Given the description of an element on the screen output the (x, y) to click on. 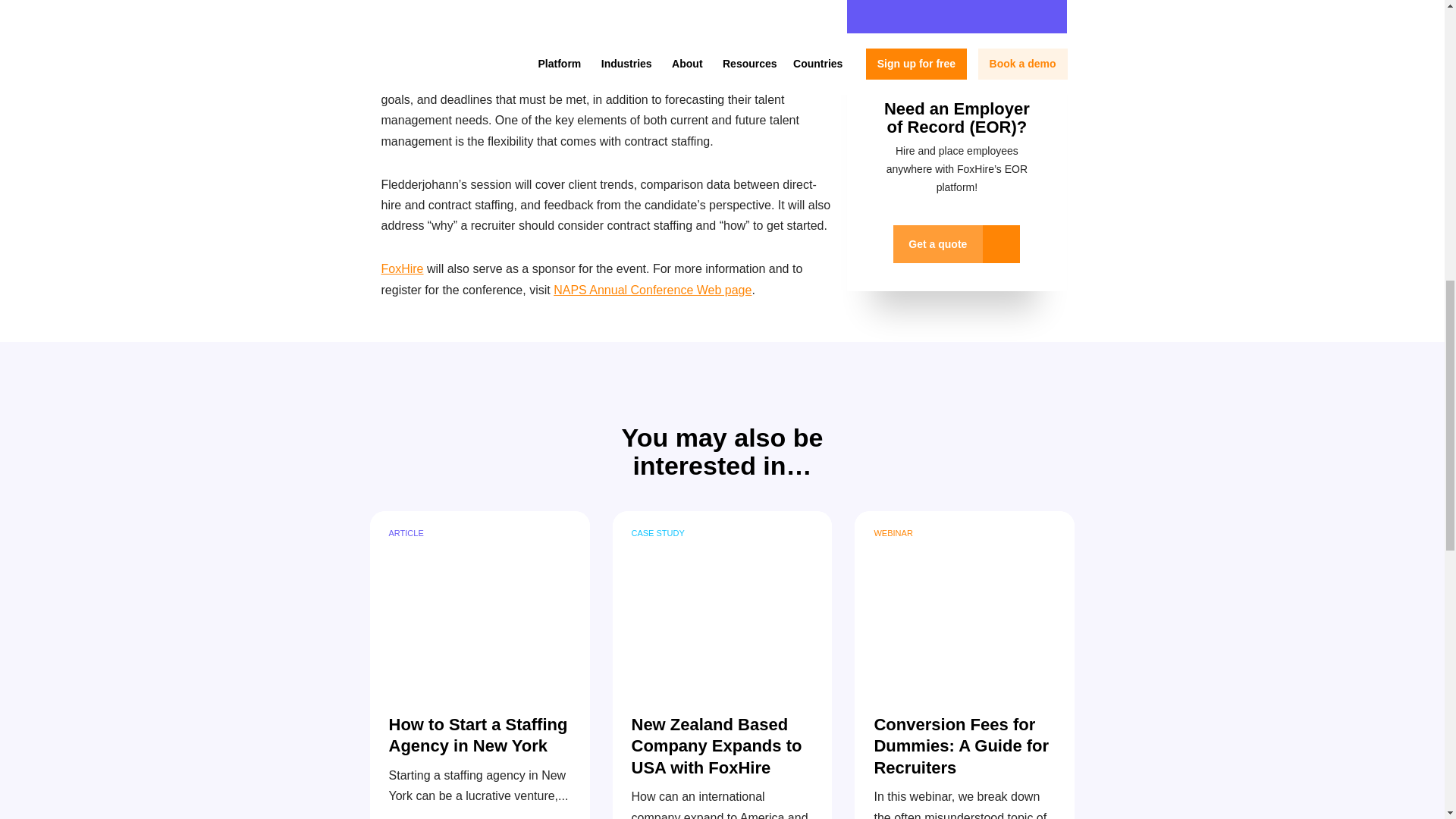
How to Start a Staffing Agency in New York (479, 599)
Conversion Fees for Dummies: A Guide for Recruiters (964, 599)
New Zealand Based Company Expands to USA with FoxHire (722, 599)
